Given the description of an element on the screen output the (x, y) to click on. 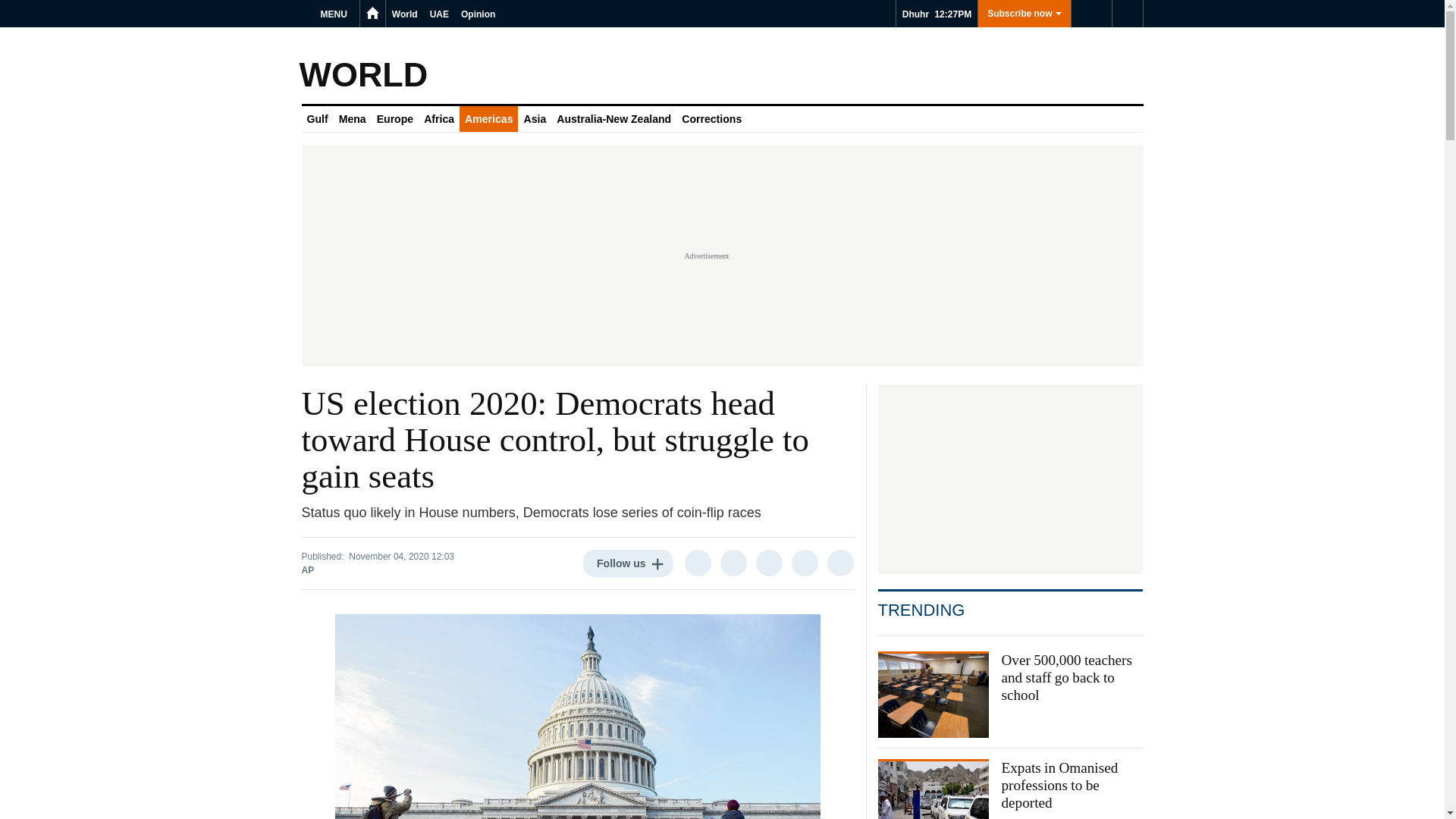
Dhuhr 12:27PM (936, 13)
Opinion (477, 13)
World (404, 13)
UAE (438, 13)
MENU (336, 13)
Subscribe now (1024, 13)
